Given the description of an element on the screen output the (x, y) to click on. 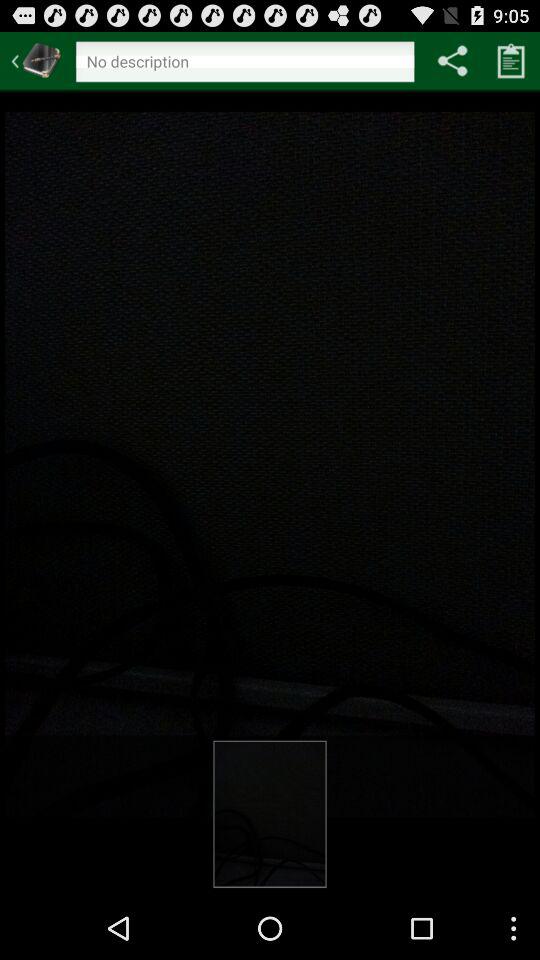
share (452, 60)
